Given the description of an element on the screen output the (x, y) to click on. 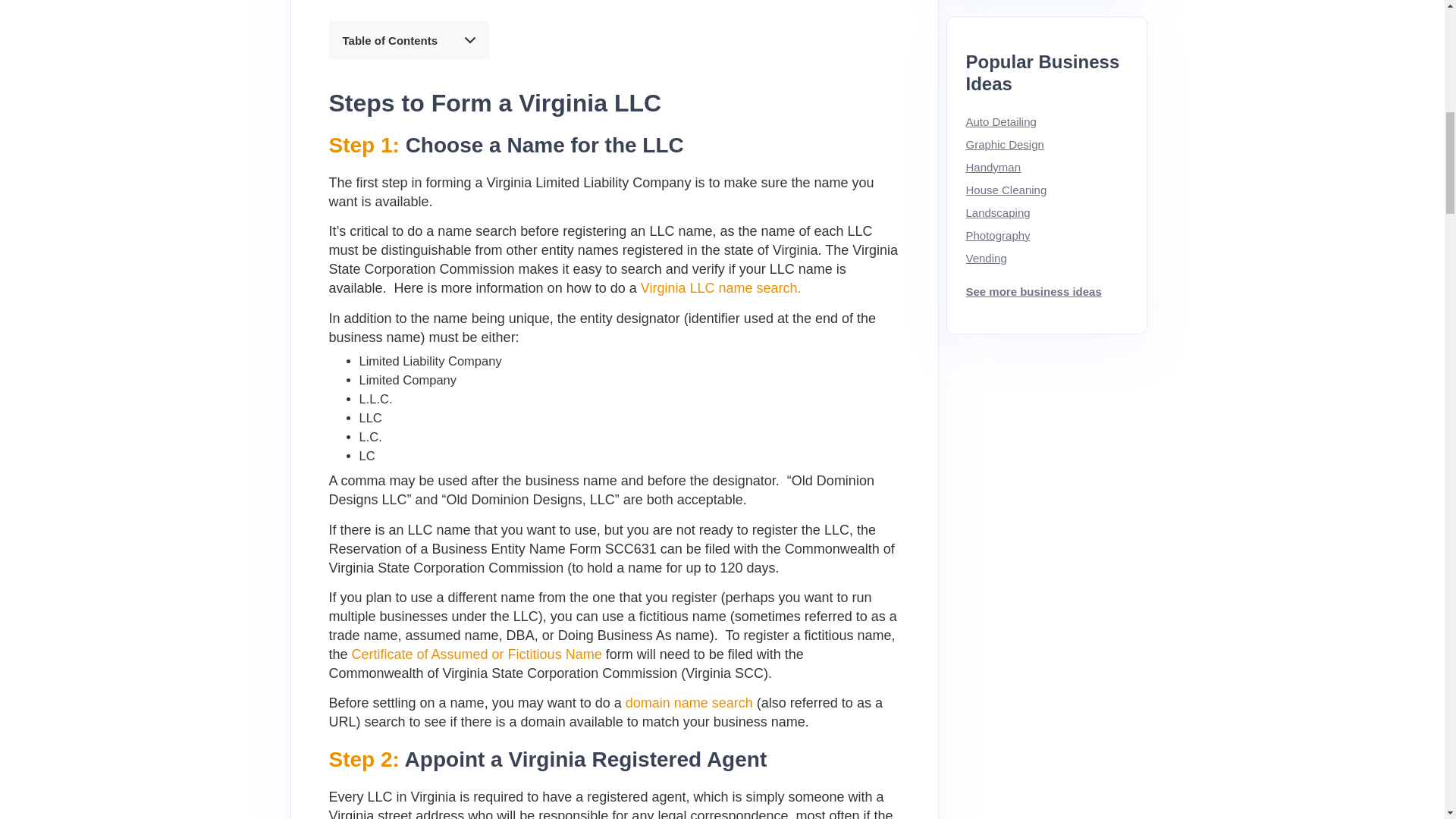
Certificate of Assumed or Fictitious Name (477, 654)
Virginia LLC name search. (721, 287)
domain name search (689, 702)
